Given the description of an element on the screen output the (x, y) to click on. 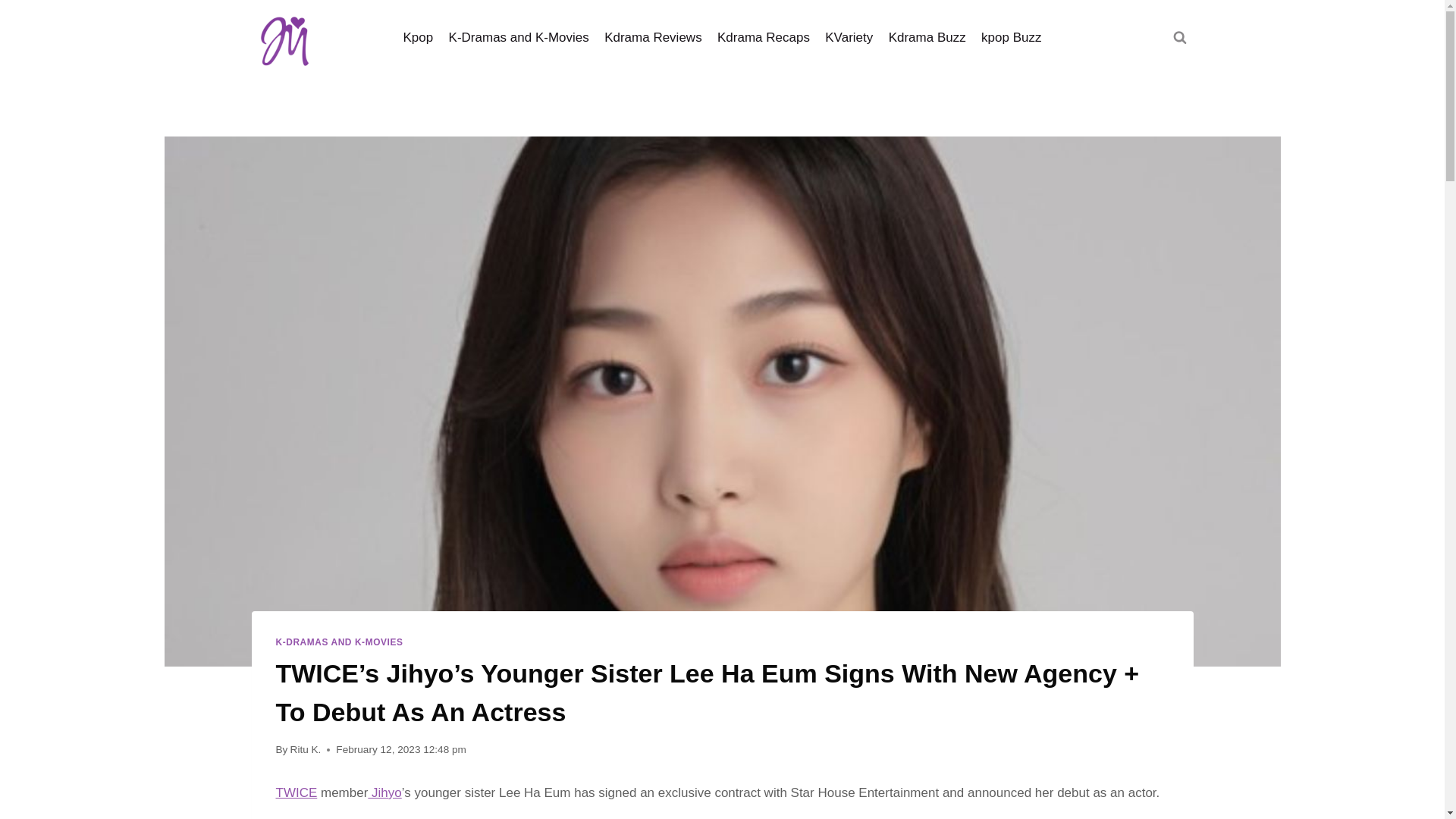
K-Dramas and K-Movies (518, 37)
Kdrama Recaps (763, 37)
kpop Buzz (1011, 37)
Kpop (417, 37)
Kdrama Buzz (926, 37)
TWICE (296, 792)
Ritu K. (305, 749)
K-DRAMAS AND K-MOVIES (339, 642)
Jihyo (384, 792)
